Given the description of an element on the screen output the (x, y) to click on. 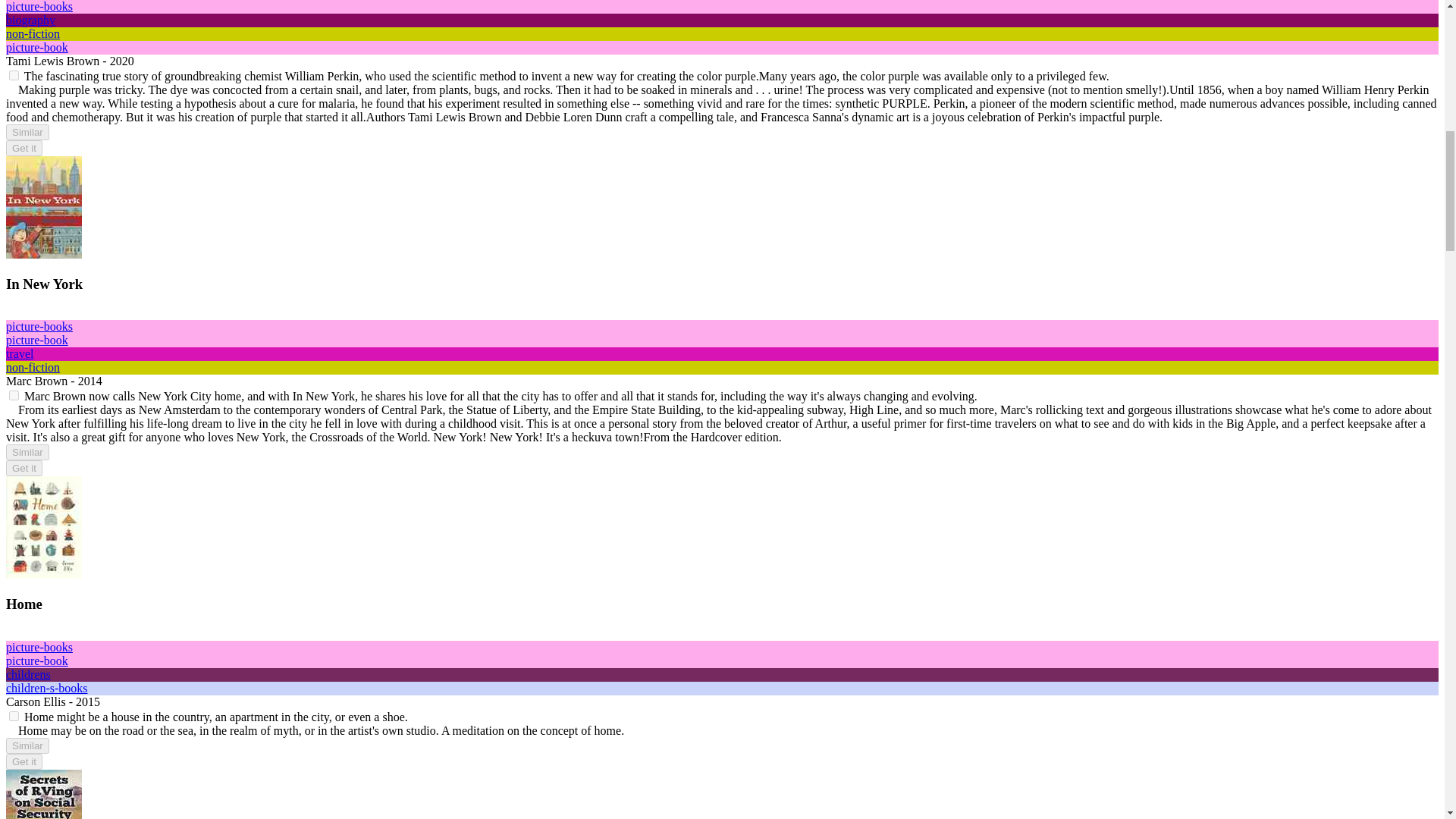
picture-book (36, 47)
picture-book (36, 660)
picture-books (38, 326)
picture-book (36, 339)
on (13, 716)
Similar (27, 132)
Similar (27, 745)
picture-books (38, 6)
Similar (27, 452)
Get it (23, 761)
Get it (23, 148)
biography (30, 19)
travel (19, 353)
on (13, 395)
Get it (23, 467)
